Given the description of an element on the screen output the (x, y) to click on. 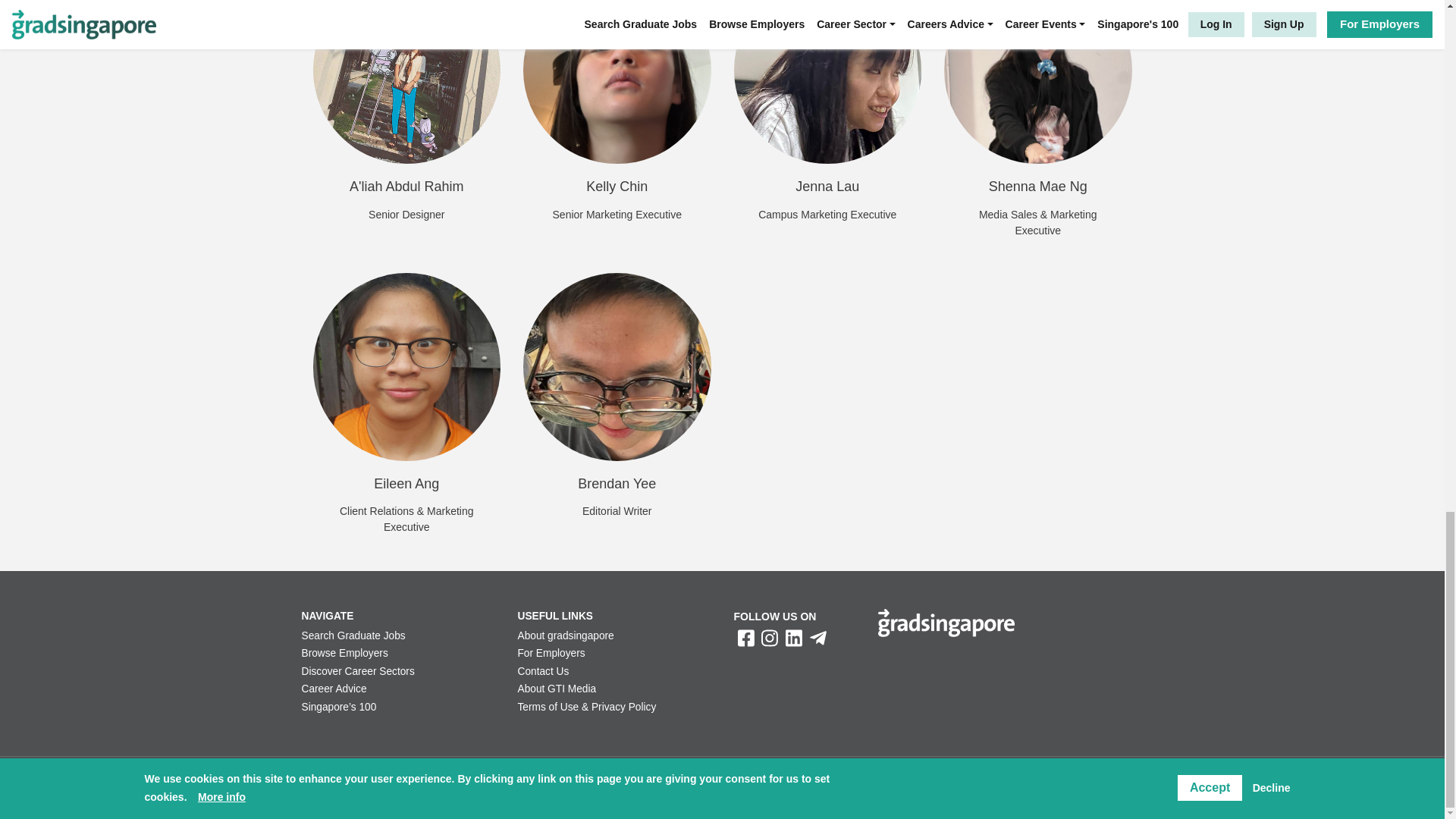
Logo (945, 623)
